Given the description of an element on the screen output the (x, y) to click on. 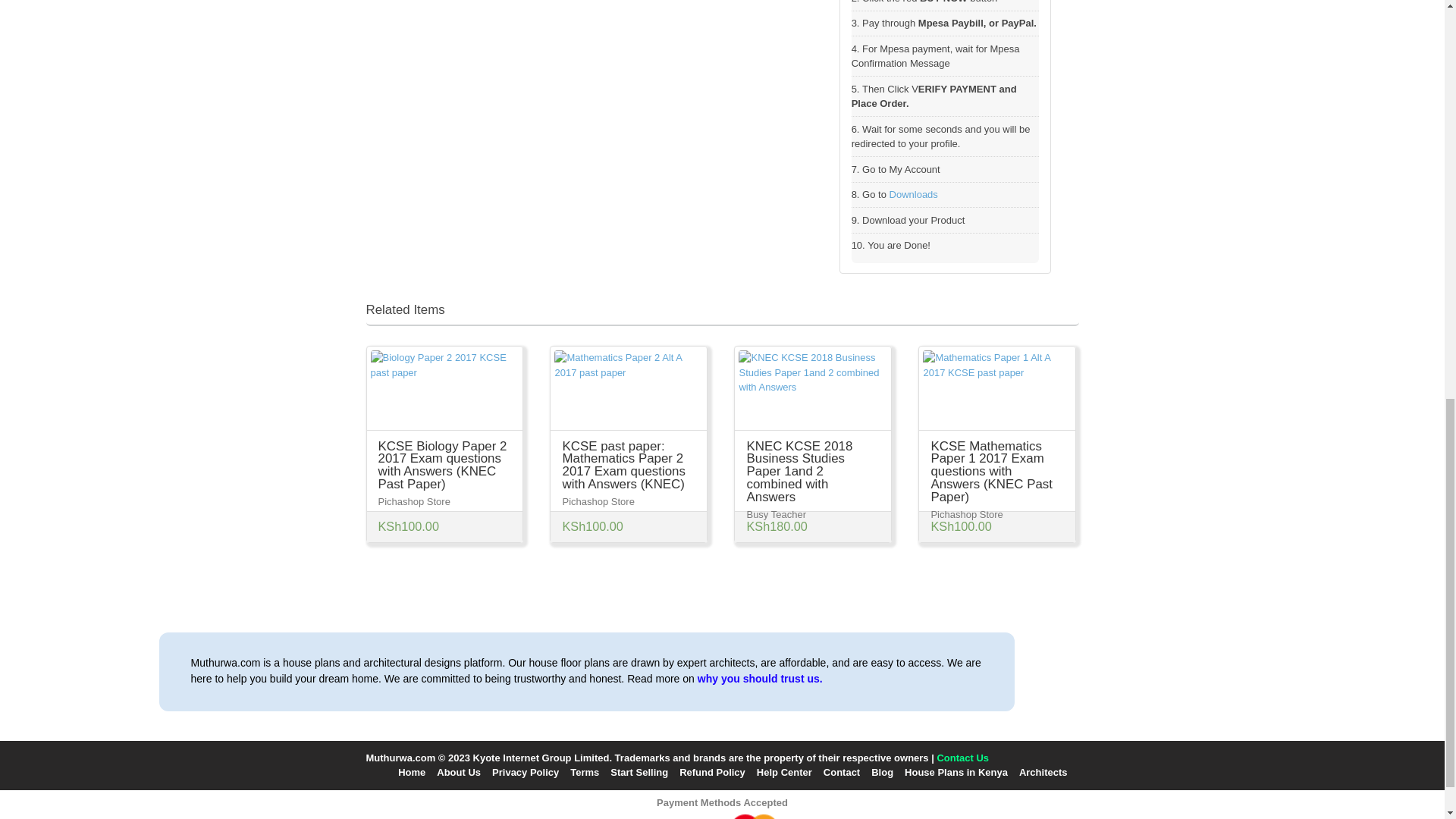
contact us (962, 757)
